Given the description of an element on the screen output the (x, y) to click on. 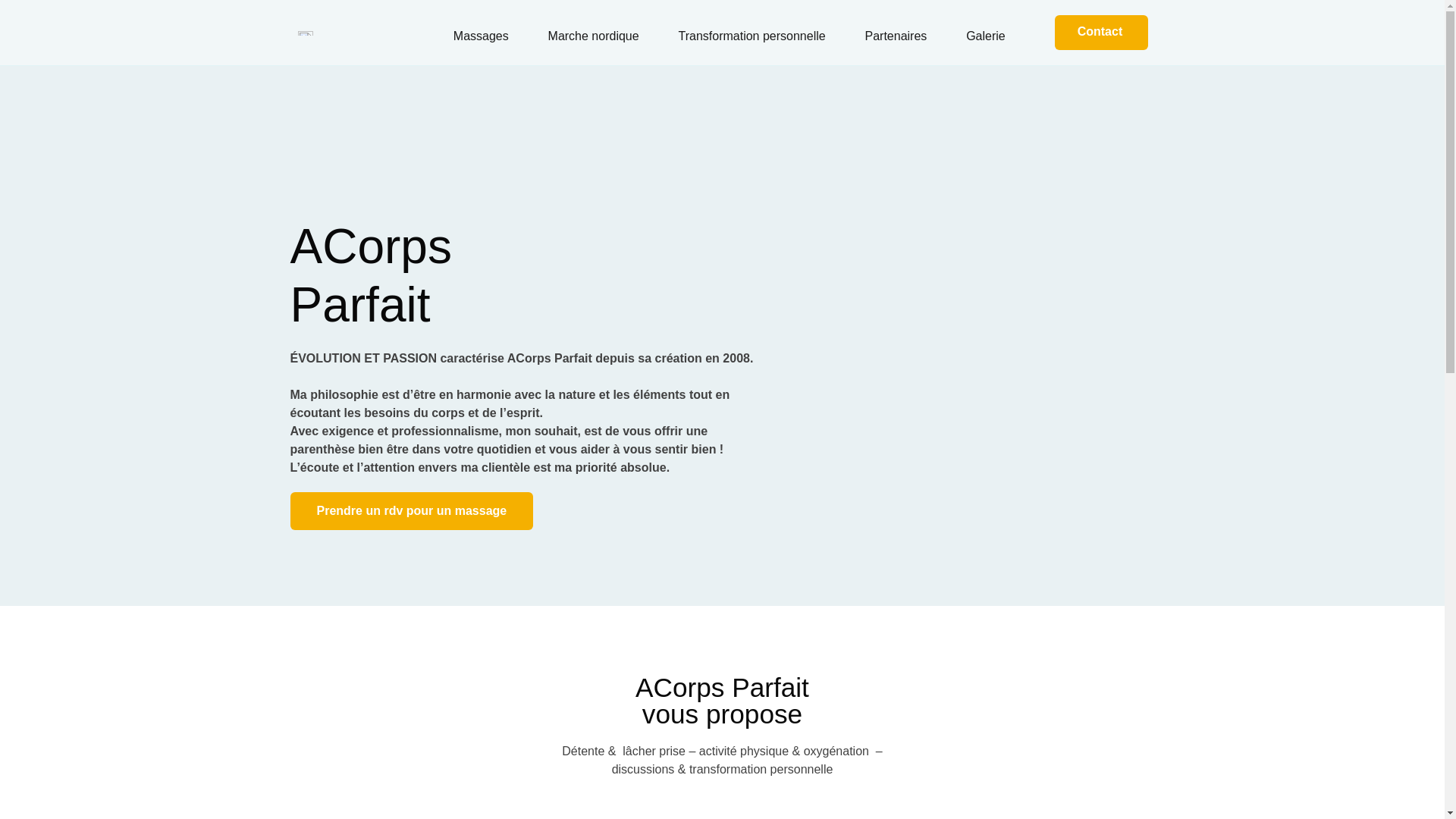
Transformation personnelle Element type: text (751, 36)
Contact Element type: text (1101, 32)
Marche nordique Element type: text (593, 36)
Galerie Element type: text (985, 36)
Prendre un rdv pour un massage Element type: text (411, 511)
Partenaires Element type: text (896, 36)
Massages Element type: text (480, 36)
